Given the description of an element on the screen output the (x, y) to click on. 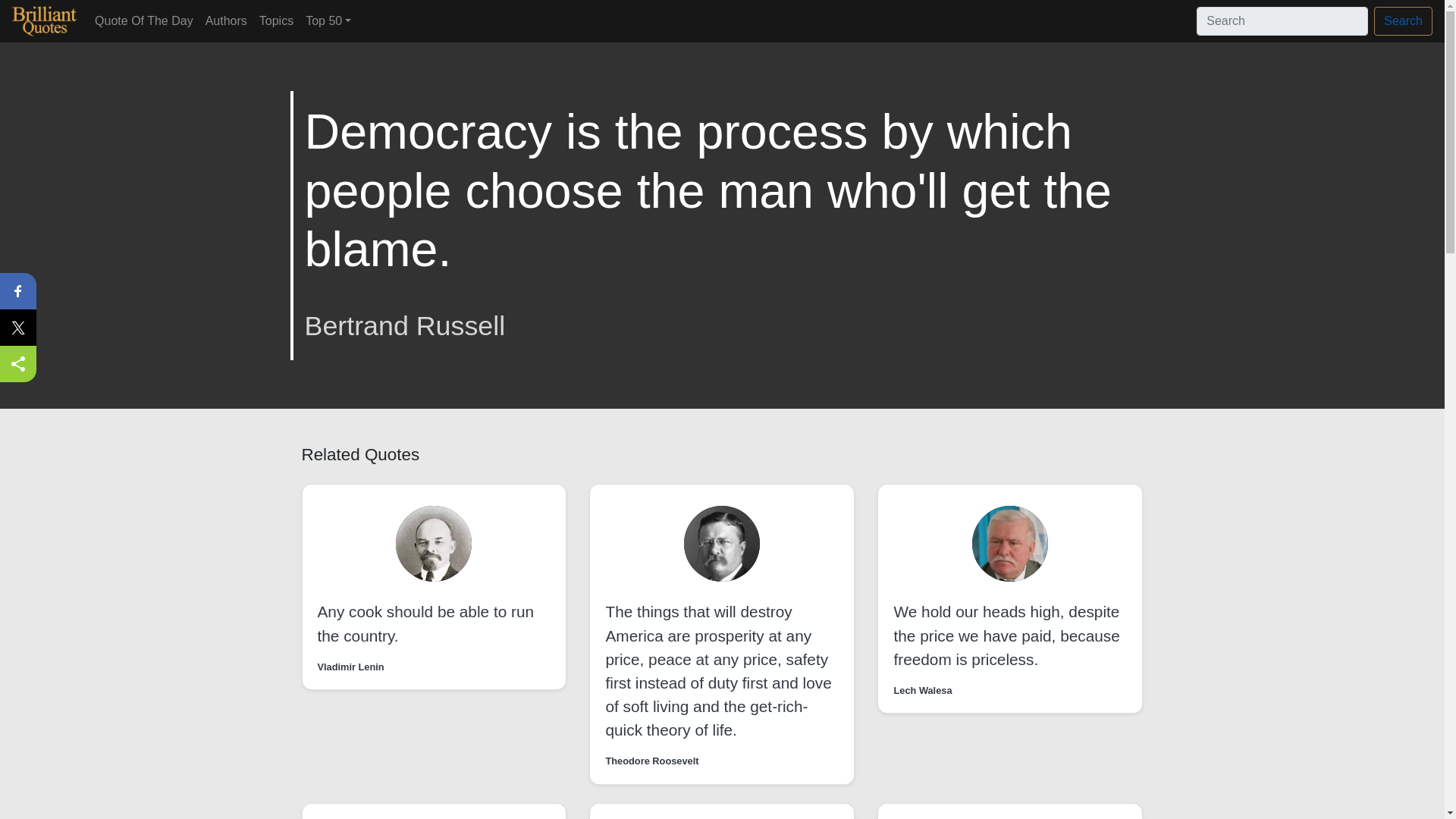
Lech Walesa (922, 690)
Authors (226, 20)
Theodore Roosevelt (651, 760)
Quote Of The Day (143, 20)
Any cook should be able to run the country. (425, 622)
Search (1403, 21)
Vladimir Lenin (350, 667)
Top 50 (327, 20)
